Given the description of an element on the screen output the (x, y) to click on. 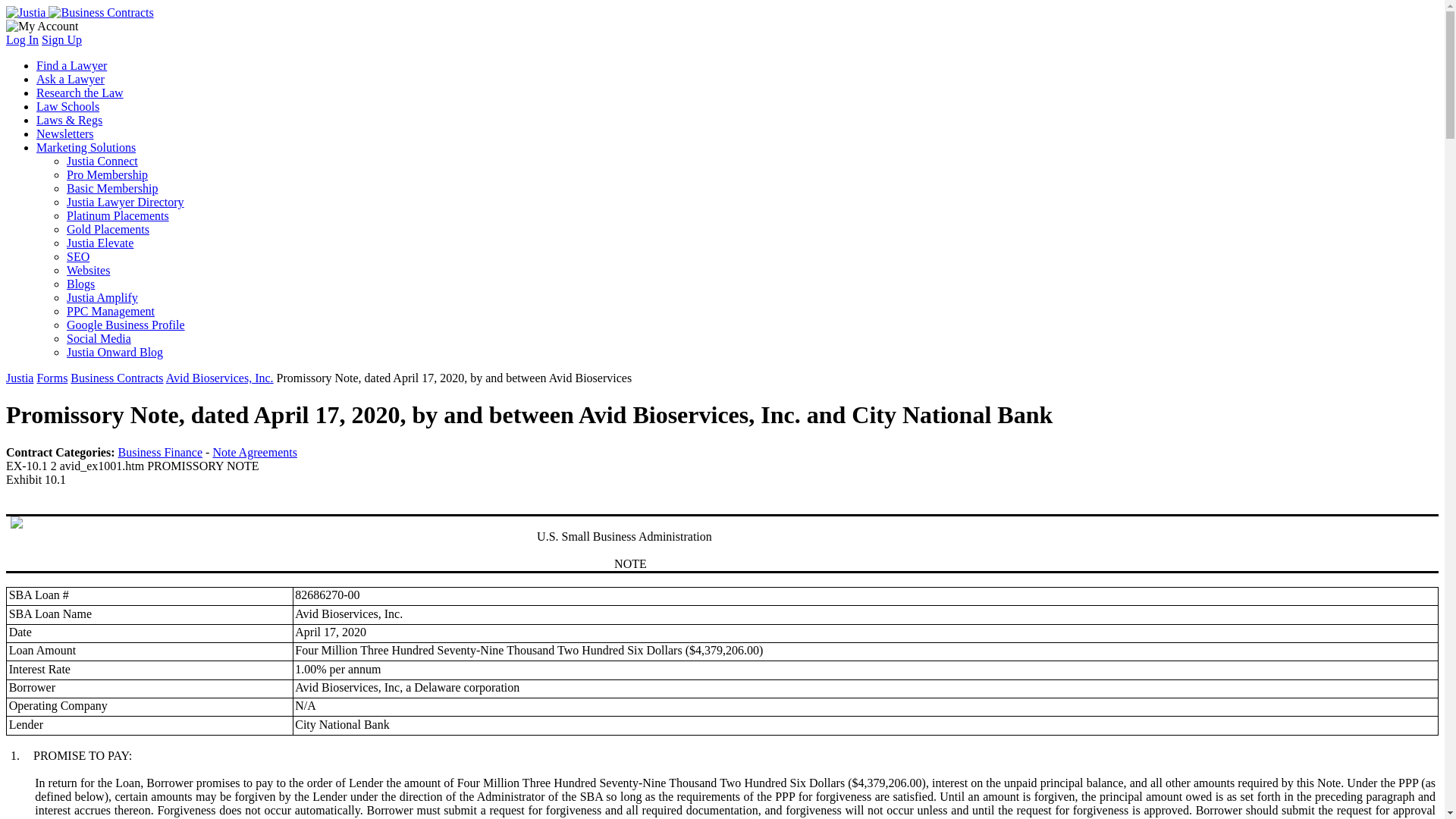
Find a Lawyer (71, 65)
Gold Placements (107, 228)
Basic Membership (111, 187)
Justia (19, 377)
Pro Membership (107, 174)
Forms (51, 377)
Blogs (80, 283)
Business Finance (160, 451)
Ask a Lawyer (70, 78)
Log In (22, 39)
